Given the description of an element on the screen output the (x, y) to click on. 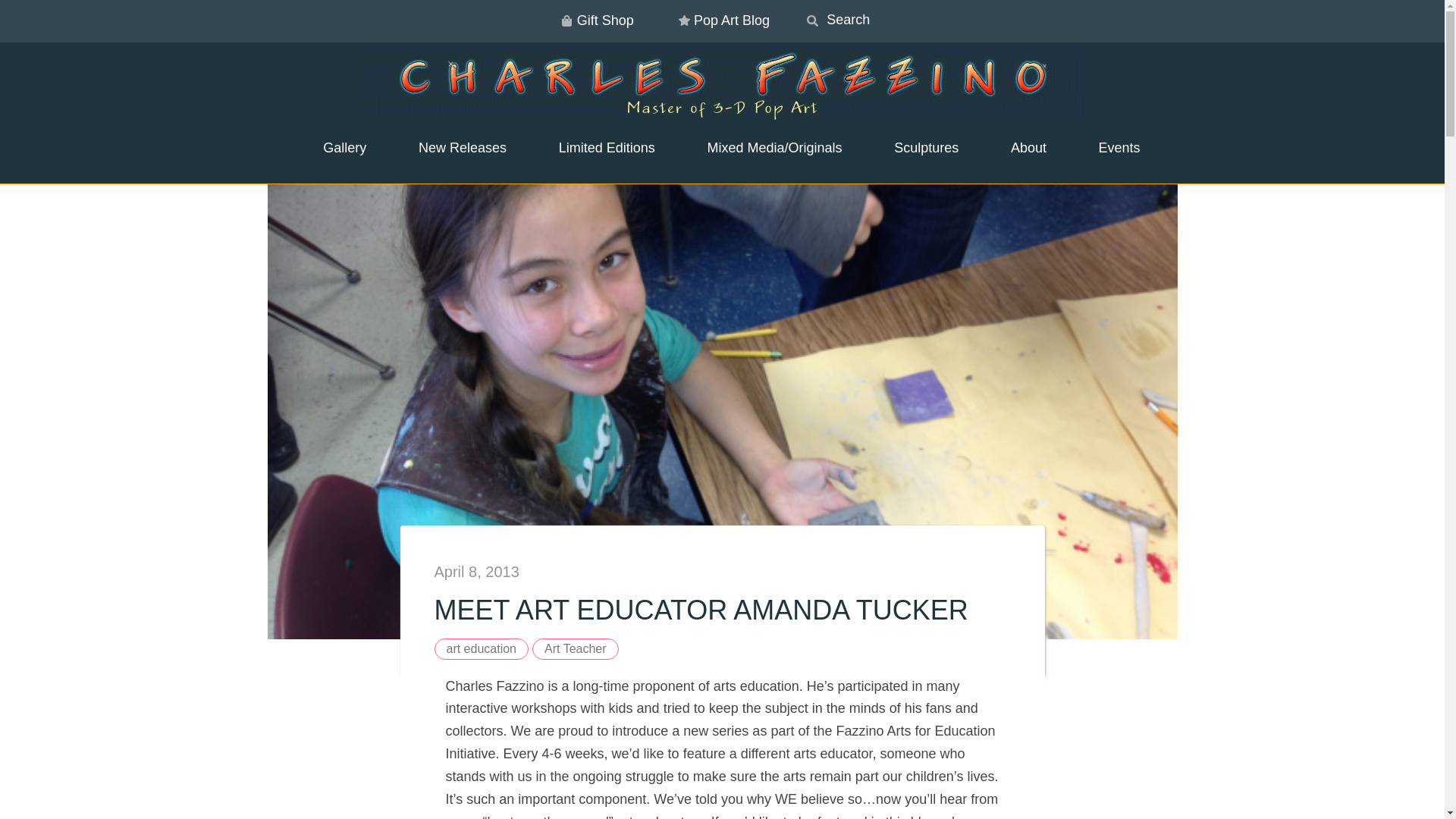
Pop Art Blog (722, 20)
art education (480, 649)
About (1018, 148)
Art Teacher (575, 649)
New Releases (452, 148)
Events (1110, 148)
Gallery (335, 148)
Gift Shop (595, 20)
Sculptures (916, 148)
Limited Editions (597, 148)
